Given the description of an element on the screen output the (x, y) to click on. 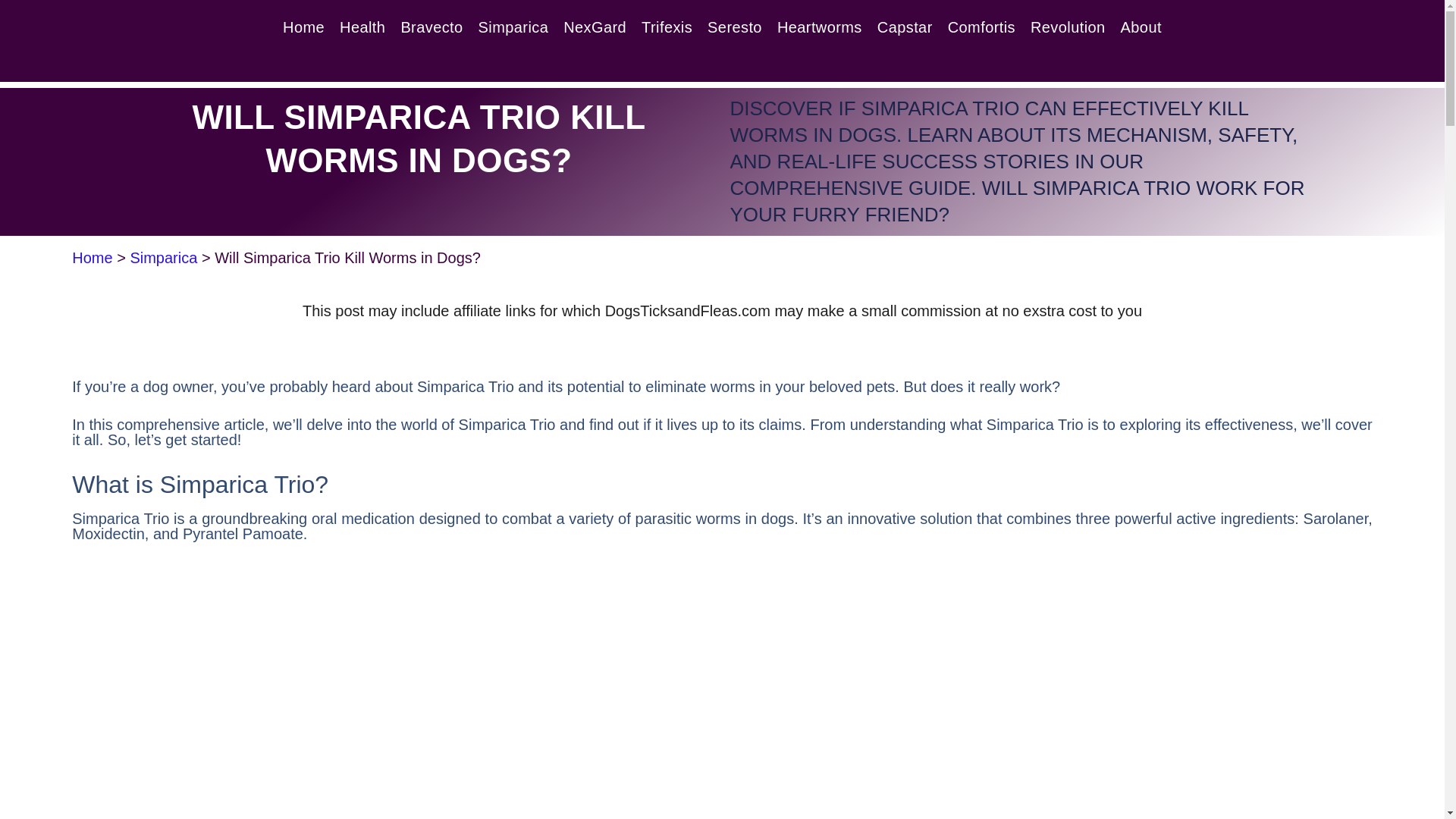
Simparica (513, 27)
Comfortis (980, 27)
Simparica (162, 257)
Revolution (1067, 27)
Trifexis (667, 27)
Home (91, 257)
Health (362, 27)
Heartworms (819, 27)
About (1141, 27)
